Given the description of an element on the screen output the (x, y) to click on. 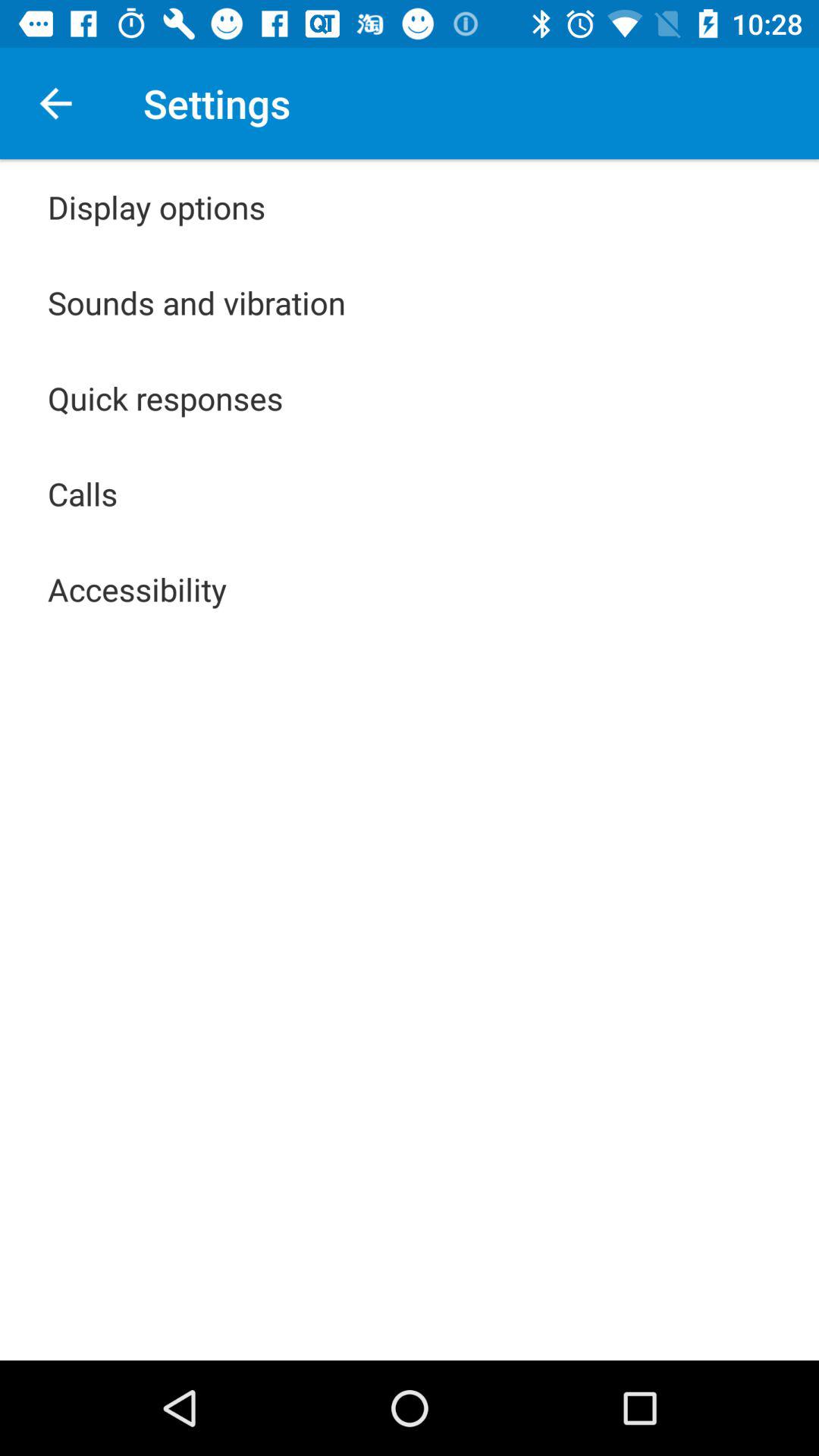
flip to the calls item (82, 493)
